Given the description of an element on the screen output the (x, y) to click on. 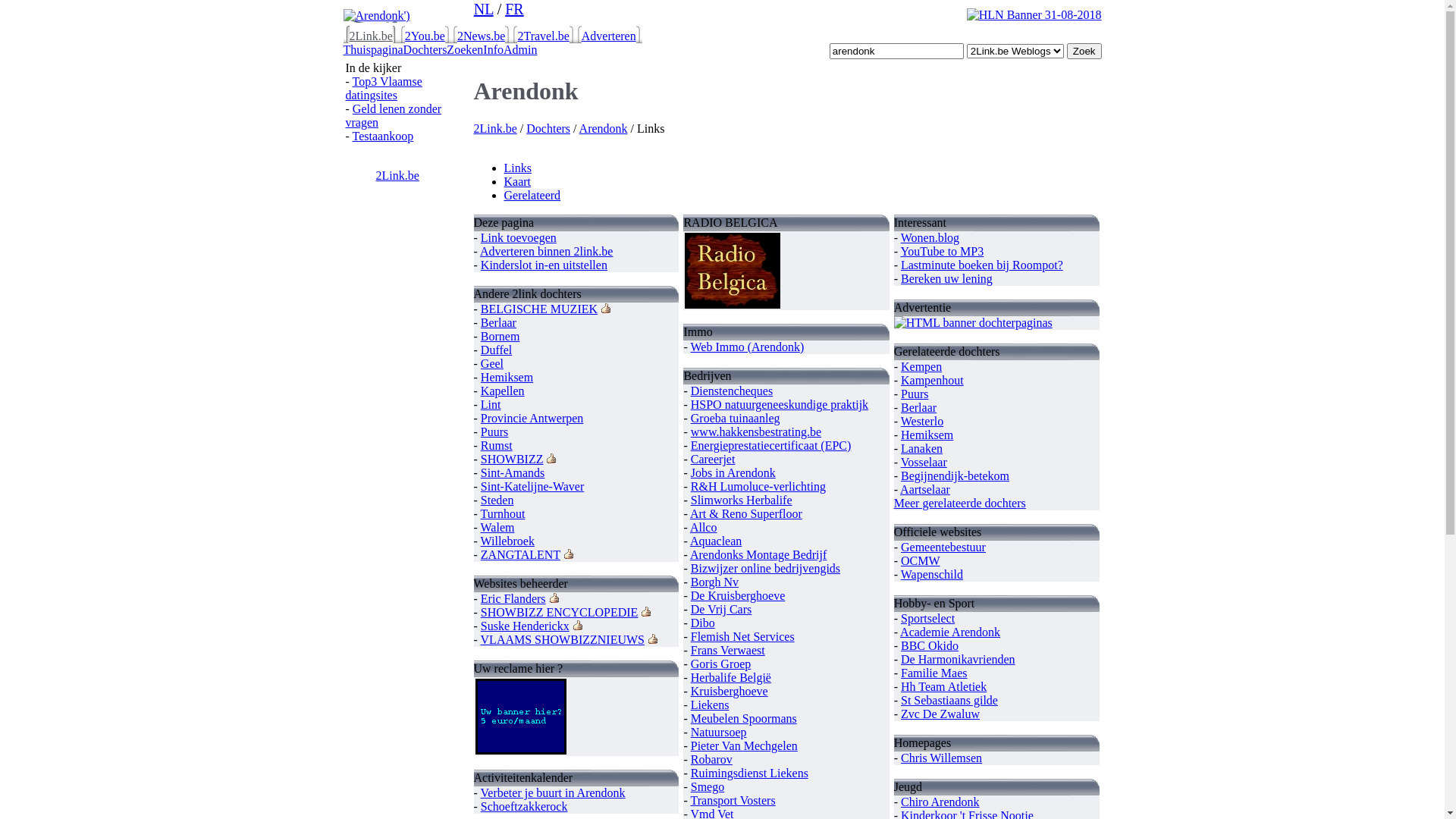
Sportselect Element type: text (927, 617)
Provincie Antwerpen Element type: text (531, 417)
De Harmonikavrienden Element type: text (957, 658)
Dochters Element type: text (548, 128)
Link toevoegen Element type: text (518, 237)
Puurs Element type: text (914, 393)
Energieprestatiecertificaat (EPC) Element type: text (770, 445)
Art & Reno Superfloor Element type: text (746, 513)
Frans Verwaest Element type: text (727, 649)
Vosselaar Element type: text (923, 461)
Bereken uw lening Element type: text (946, 278)
Aquaclean Element type: text (715, 540)
De Kruisberghoeve Element type: text (737, 595)
Robarov Element type: text (711, 759)
Eric Flanders Element type: text (513, 598)
Aartselaar Element type: text (925, 489)
Dienstencheques Element type: text (731, 390)
Liekens Element type: text (709, 704)
Geld lenen zonder vragen Element type: text (393, 115)
Kapellen Element type: text (502, 390)
Hh Team Atletiek Element type: text (943, 686)
SHOWBIZZ Element type: text (511, 458)
Zoek Element type: text (1083, 51)
Geel Element type: text (491, 363)
Zvc De Zwaluw Element type: text (939, 713)
Borgh Nv Element type: text (714, 581)
Top3 Vlaamse datingsites Element type: text (383, 88)
Ruimingsdienst Liekens Element type: text (749, 772)
Chris Willemsen Element type: text (941, 757)
Chiro Arendonk Element type: text (939, 801)
De Vrij Cars Element type: text (721, 608)
BELGISCHE MUZIEK Element type: text (538, 308)
2You.be Element type: text (424, 35)
Jobs in Arendonk Element type: text (732, 472)
Kampenhout Element type: text (931, 379)
Meubelen Spoormans Element type: text (743, 718)
Hemiksem Element type: text (926, 434)
Turnhout Element type: text (502, 513)
Dibo Element type: text (702, 622)
Transport Vosters Element type: text (732, 799)
Berlaar Element type: text (498, 322)
2Link.be Element type: text (397, 175)
Gemeentebestuur Element type: text (942, 546)
2Travel.be Element type: text (542, 35)
Flemish Net Services Element type: text (742, 636)
Smego Element type: text (707, 786)
R&H Lumoluce-verlichting Element type: text (757, 486)
OCMW Element type: text (920, 560)
YouTube to MP3 Element type: text (941, 250)
Schoeftzakkerock Element type: text (523, 806)
Bornem Element type: text (500, 335)
Begijnendijk-betekom Element type: text (954, 475)
SHOWBIZZ ENCYCLOPEDIE Element type: text (559, 611)
Westerlo Element type: text (921, 420)
Careerjet Element type: text (712, 458)
Wapenschild Element type: text (931, 573)
Arendonks Montage Bedrijf Element type: text (758, 554)
www.hakkensbestrating.be Element type: text (755, 431)
Slimworks Herbalife Element type: text (741, 499)
NL Element type: text (483, 8)
BBC Okido Element type: text (929, 645)
Walem Element type: text (497, 526)
Thuispagina Element type: text (372, 49)
Arendonk Element type: text (603, 128)
Links Element type: text (516, 167)
Lint Element type: text (490, 404)
2Link.be Element type: text (494, 128)
Hemiksem Element type: text (506, 376)
Allco Element type: text (703, 526)
Familie Maes Element type: text (933, 672)
Zoeken Element type: text (464, 49)
Duffel Element type: text (495, 349)
Rumst Element type: text (496, 445)
Adverteren Element type: text (608, 35)
ZANGTALENT Element type: text (520, 554)
Suske Henderickx Element type: text (524, 625)
Steden Element type: text (497, 499)
Verbeter je buurt in Arendonk Element type: text (552, 792)
Goris Groep Element type: text (720, 663)
Willebroek Element type: text (507, 540)
2Link.be Element type: text (370, 35)
Academie Arendonk Element type: text (950, 631)
Gerelateerd Element type: text (531, 194)
Lanaken Element type: text (921, 448)
Berlaar Element type: text (918, 407)
FR Element type: text (514, 8)
Kempen Element type: text (920, 366)
St Sebastiaans gilde Element type: text (948, 699)
Sint-Katelijne-Waver Element type: text (531, 486)
HSPO natuurgeneeskundige praktijk Element type: text (779, 404)
Dochters Element type: text (425, 49)
Kinderslot in-en uitstellen Element type: text (543, 264)
Puurs Element type: text (494, 431)
2News.be Element type: text (481, 35)
Testaankoop Element type: text (383, 135)
Kruisberghoeve Element type: text (729, 690)
Admin Element type: text (519, 49)
Pieter Van Mechgelen Element type: text (743, 745)
Wonen.blog Element type: text (929, 237)
Sint-Amands Element type: text (512, 472)
Adverteren binnen 2link.be Element type: text (546, 250)
Meer gerelateerde dochters Element type: text (960, 502)
Groeba tuinaanleg Element type: text (735, 417)
Kaart Element type: text (516, 181)
Info Element type: text (493, 49)
VLAAMS SHOWBIZZNIEUWS Element type: text (562, 639)
Natuursoep Element type: text (718, 731)
Lastminute boeken bij Roompot? Element type: text (981, 264)
Web Immo (Arendonk) Element type: text (746, 346)
Bizwijzer online bedrijvengids Element type: text (765, 567)
